Given the description of an element on the screen output the (x, y) to click on. 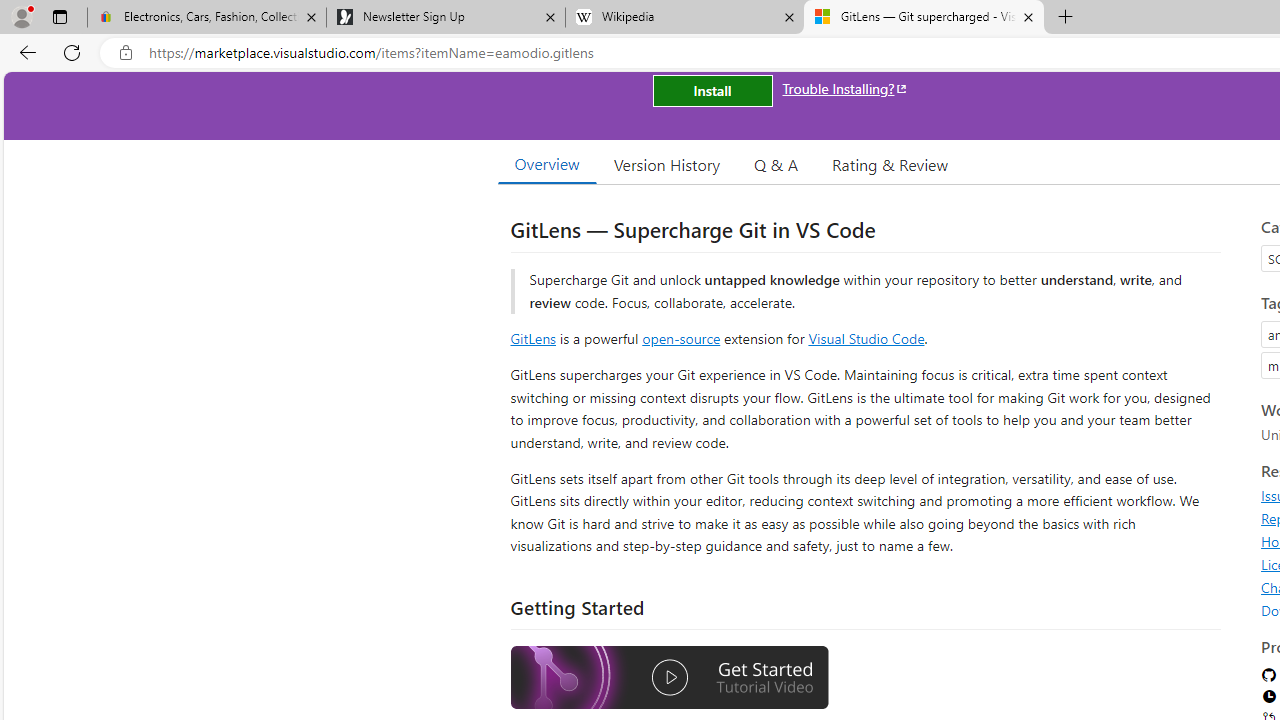
Overview (546, 164)
Rating & Review (890, 164)
Close tab (1028, 16)
Back (24, 52)
GitLens (532, 337)
Install (712, 90)
open-source (681, 337)
